Given the description of an element on the screen output the (x, y) to click on. 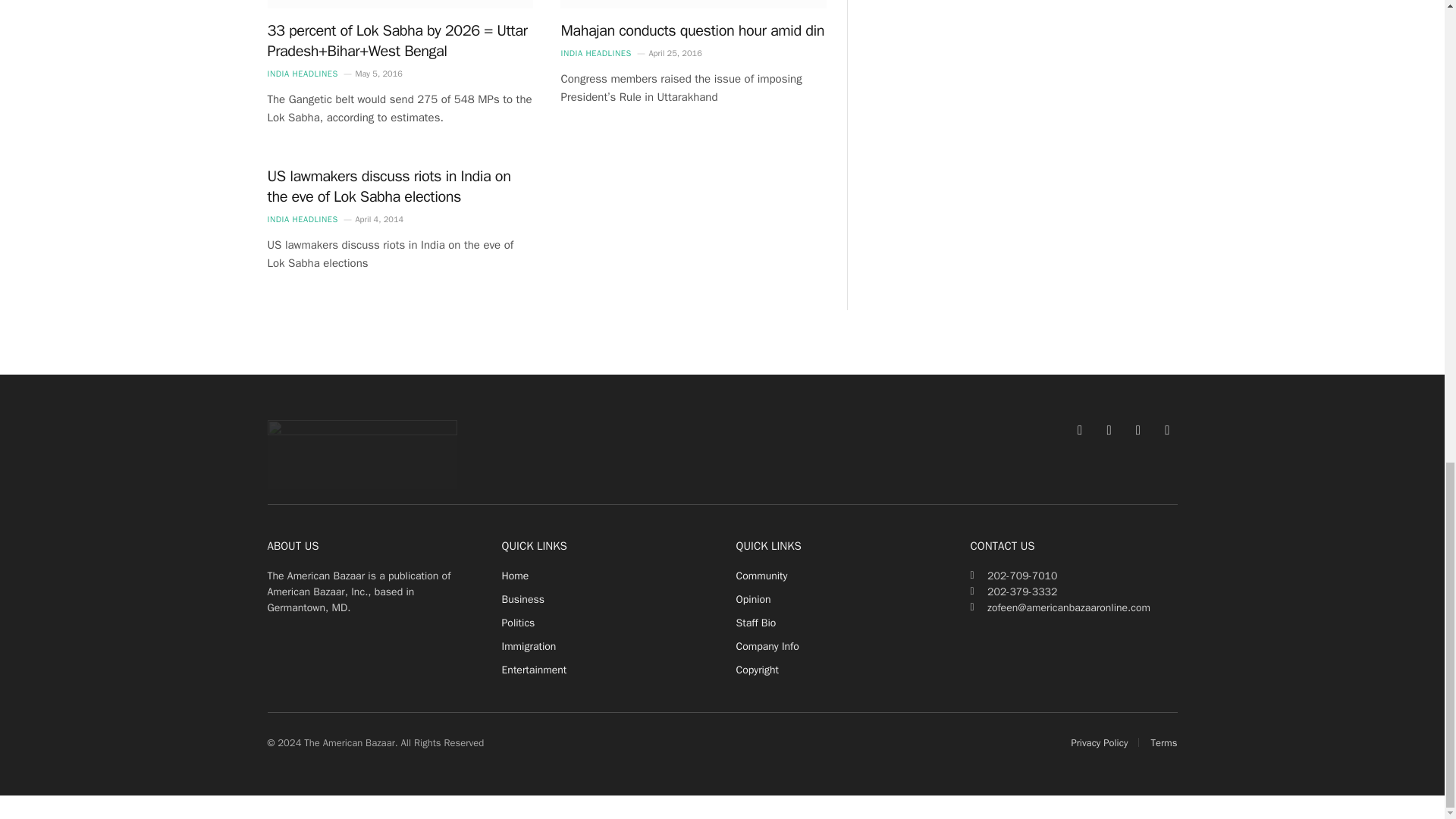
INDIA HEADLINES (301, 73)
Mahajan conducts question hour amid din (693, 30)
Mahajan conducts question hour amid din (693, 3)
